Given the description of an element on the screen output the (x, y) to click on. 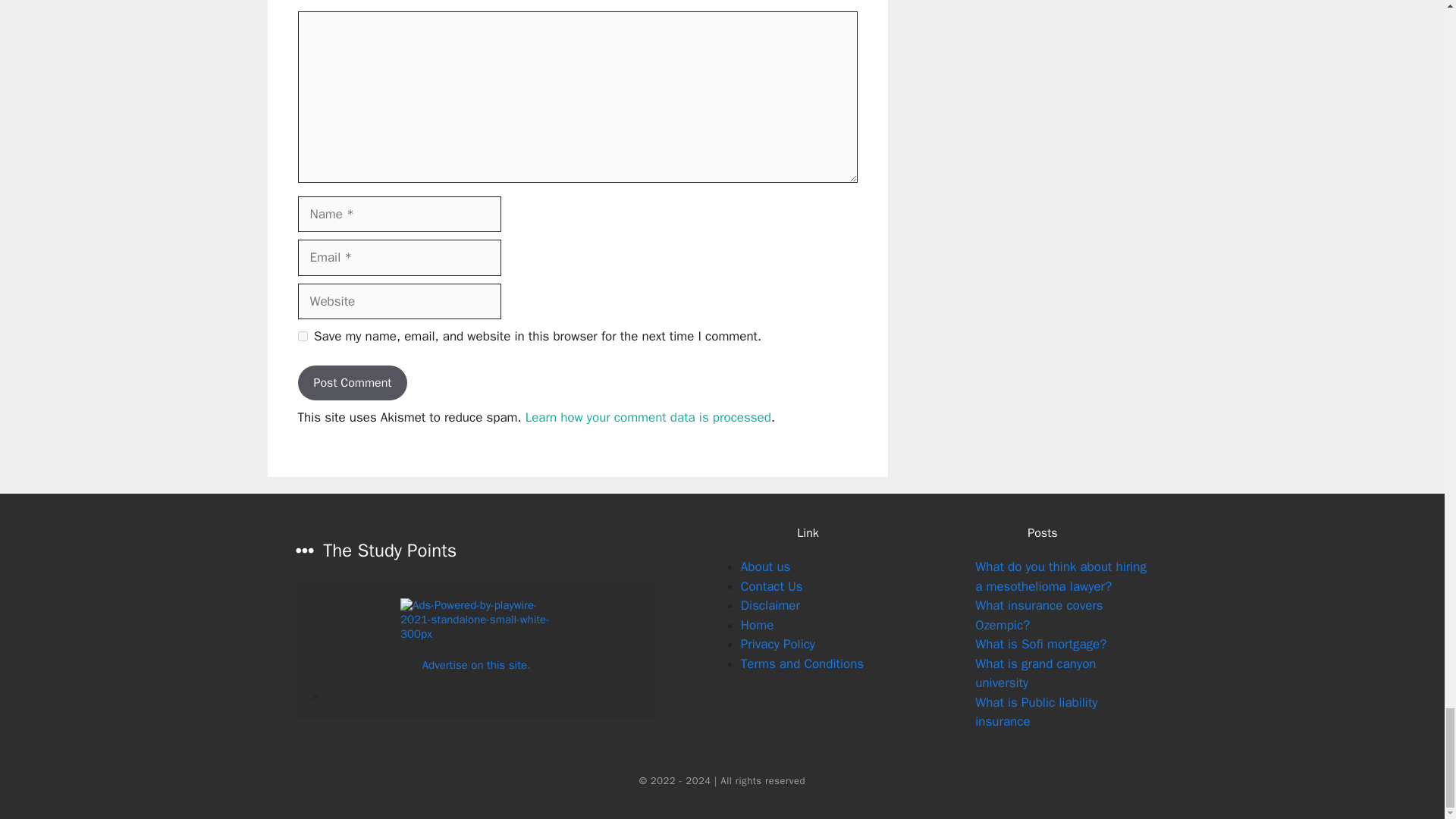
Learn how your comment data is processed (648, 417)
Contact Us (772, 586)
Home (757, 625)
What do you think about hiring a mesothelioma lawyer? (1061, 576)
Post Comment (352, 382)
What is Sofi mortgage? (1040, 643)
Privacy Policy (778, 643)
Disclaimer (770, 605)
What is Public liability insurance (1036, 712)
Advertise on this site. (476, 664)
